Given the description of an element on the screen output the (x, y) to click on. 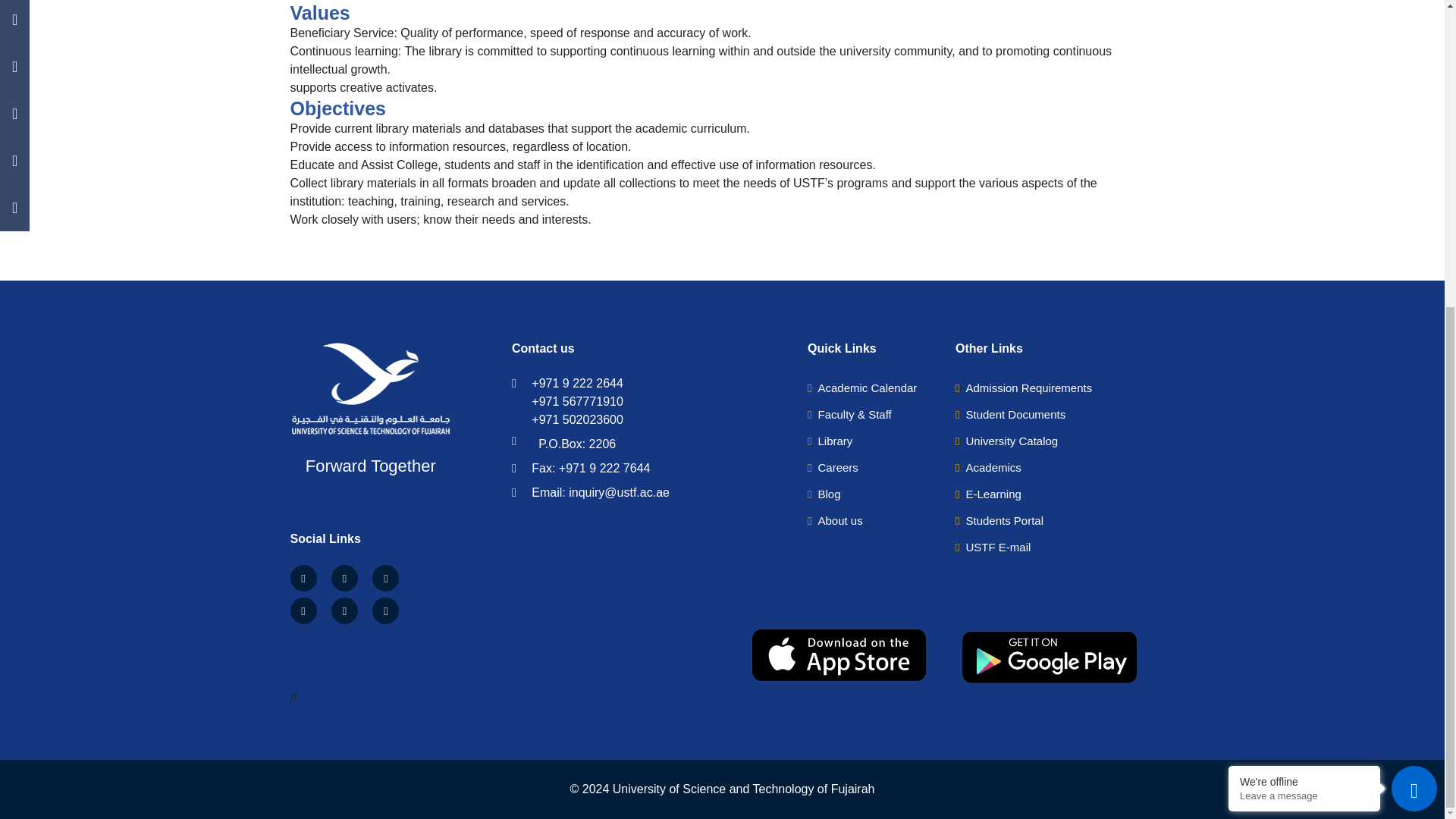
Leave a message (1304, 312)
We're offline (1304, 298)
